Given the description of an element on the screen output the (x, y) to click on. 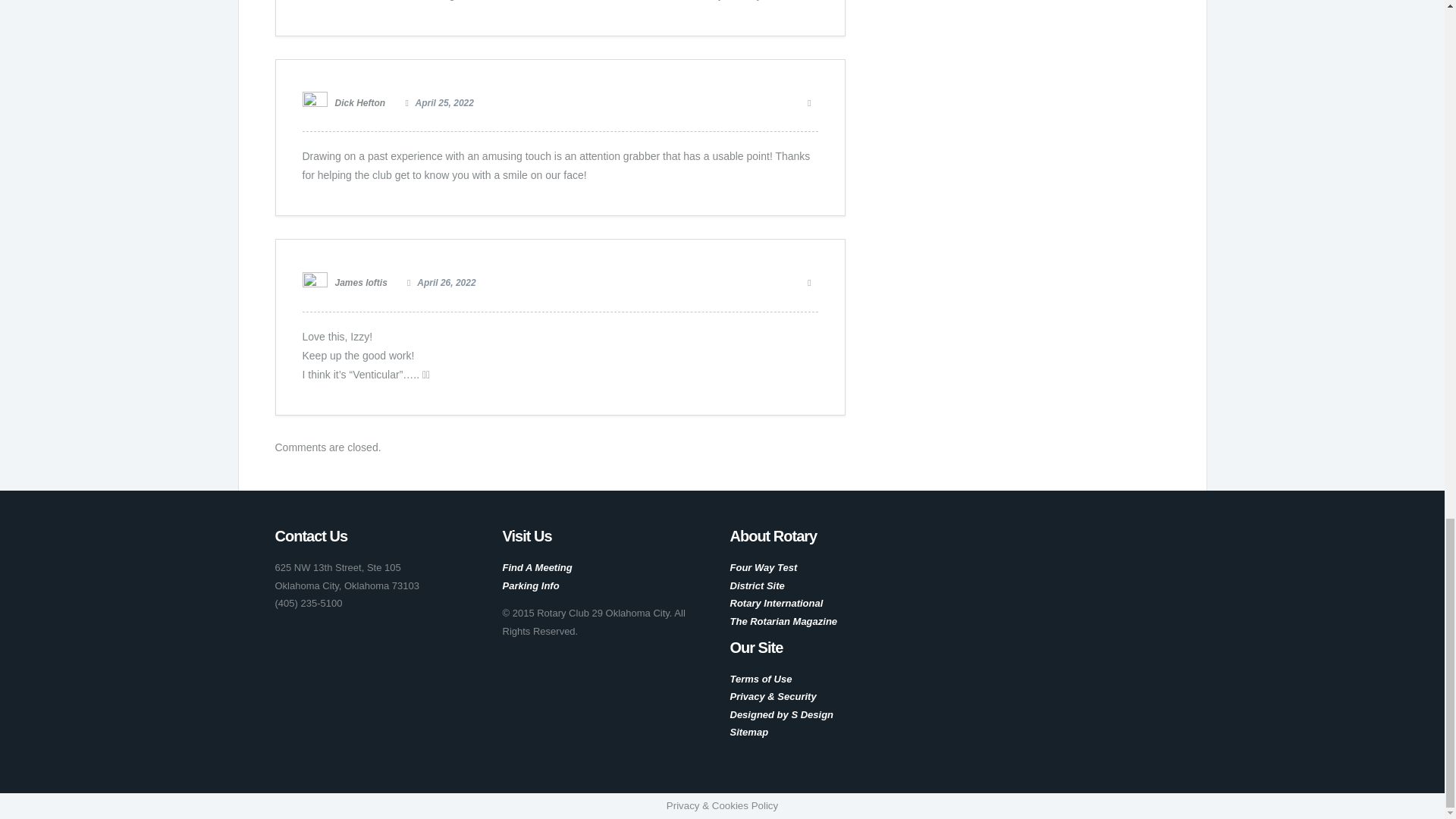
Find A Meeting (537, 567)
The Rotarian Magazine (783, 621)
Rotary International (775, 603)
Parking Info (530, 585)
Four Way Test (762, 567)
Terms of Use (760, 678)
District Site (756, 585)
